Given the description of an element on the screen output the (x, y) to click on. 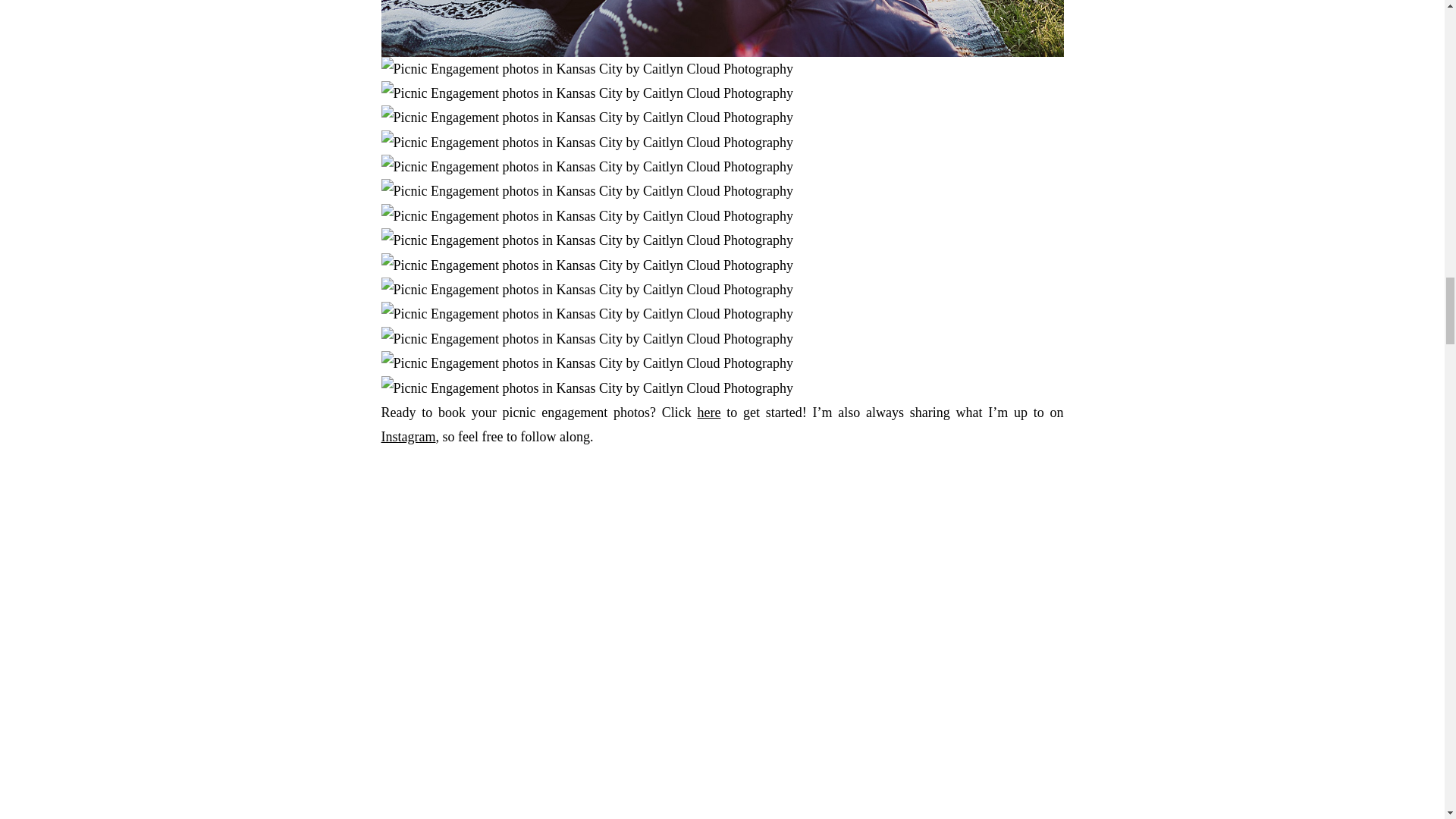
Instagram (407, 436)
here (708, 412)
